Given the description of an element on the screen output the (x, y) to click on. 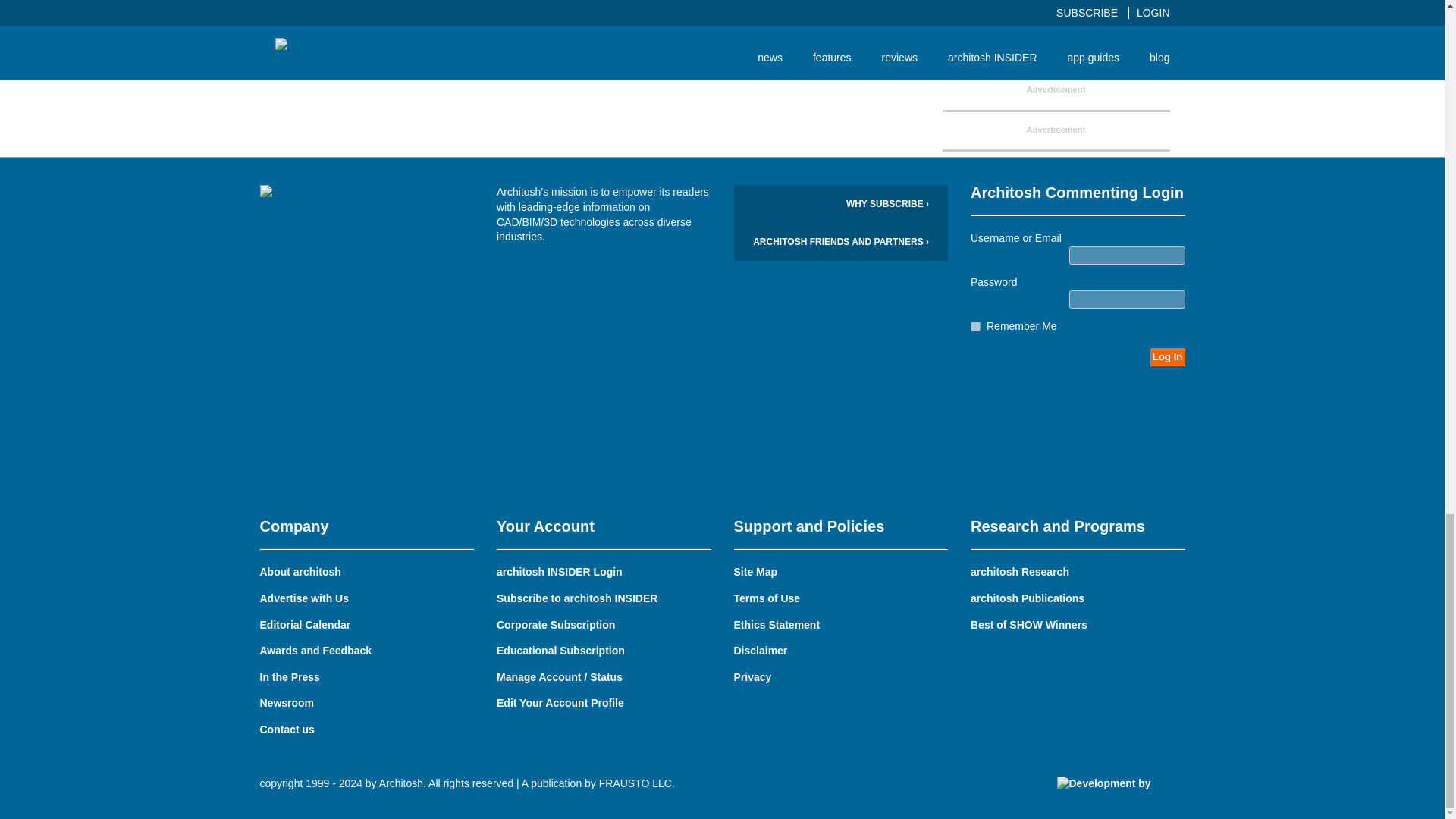
Development by 9seeds (1121, 790)
forever (975, 326)
Log In (1167, 357)
